Given the description of an element on the screen output the (x, y) to click on. 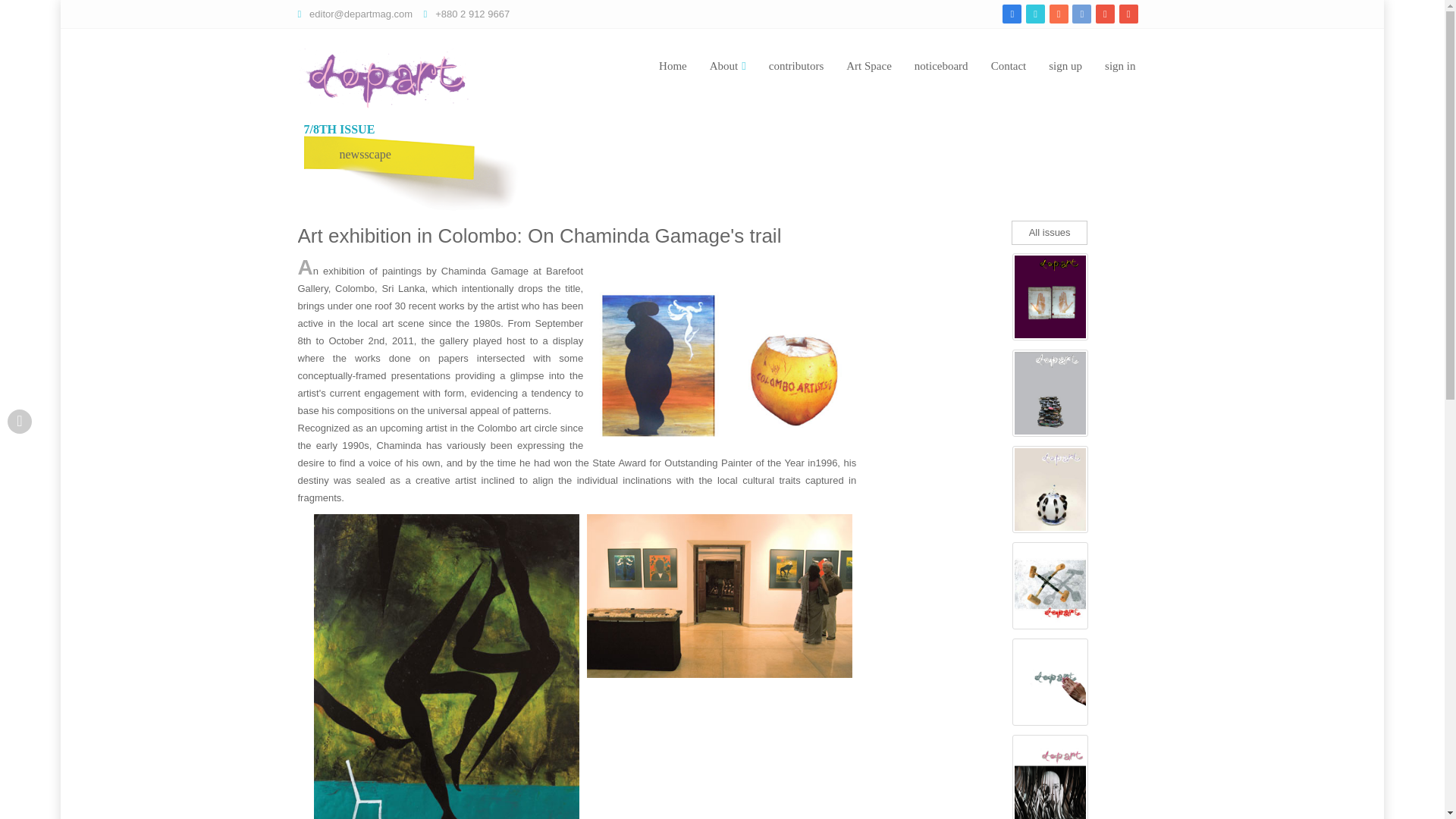
noticeboard (940, 65)
contributors (796, 65)
About (727, 65)
Home (672, 65)
sign in (1120, 65)
sign up (1064, 65)
Art Space (868, 65)
Contact (1008, 65)
